Given the description of an element on the screen output the (x, y) to click on. 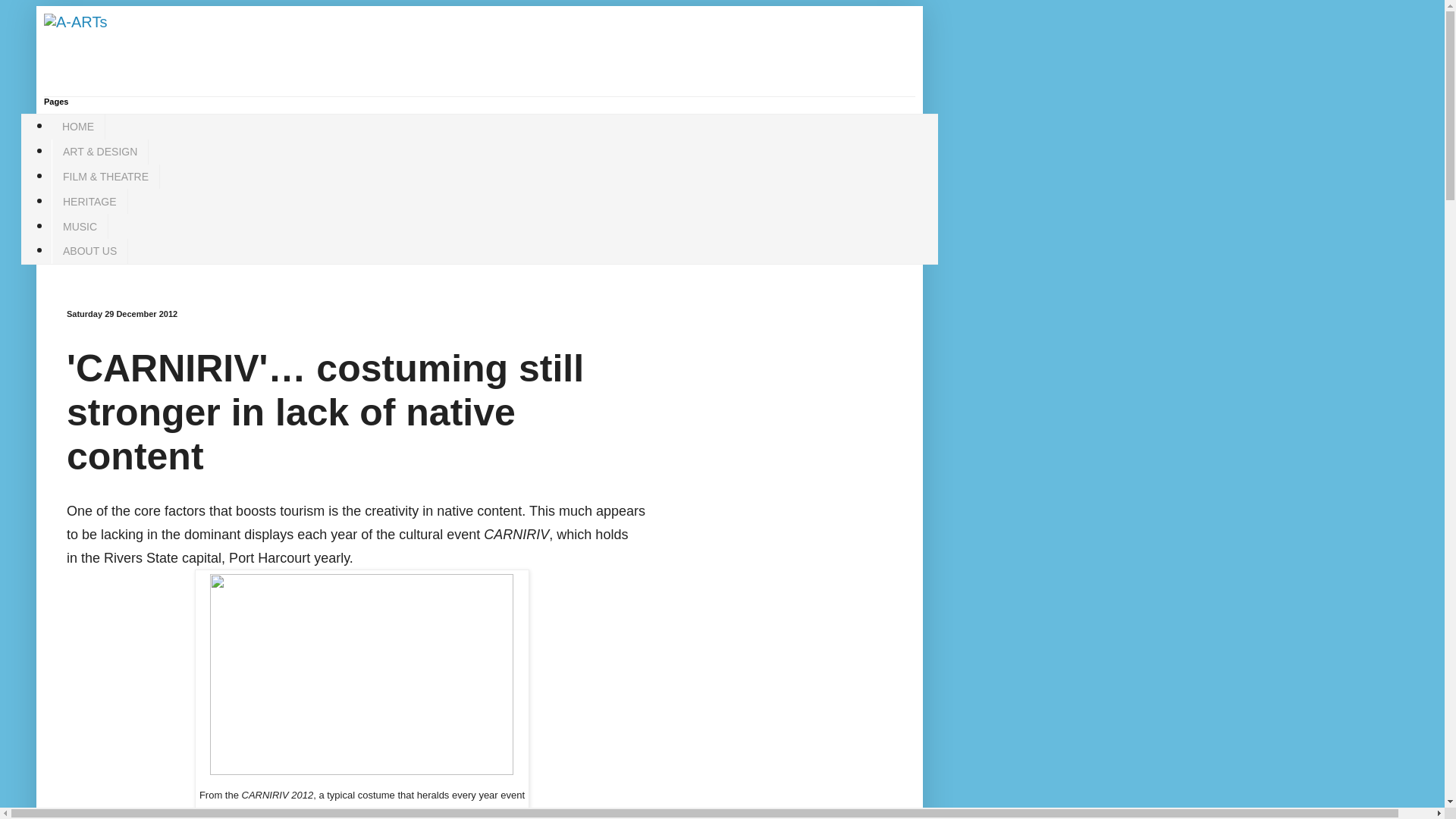
HERITAGE (89, 201)
HOME (77, 126)
MUSIC (78, 226)
ABOUT US (89, 251)
